Given the description of an element on the screen output the (x, y) to click on. 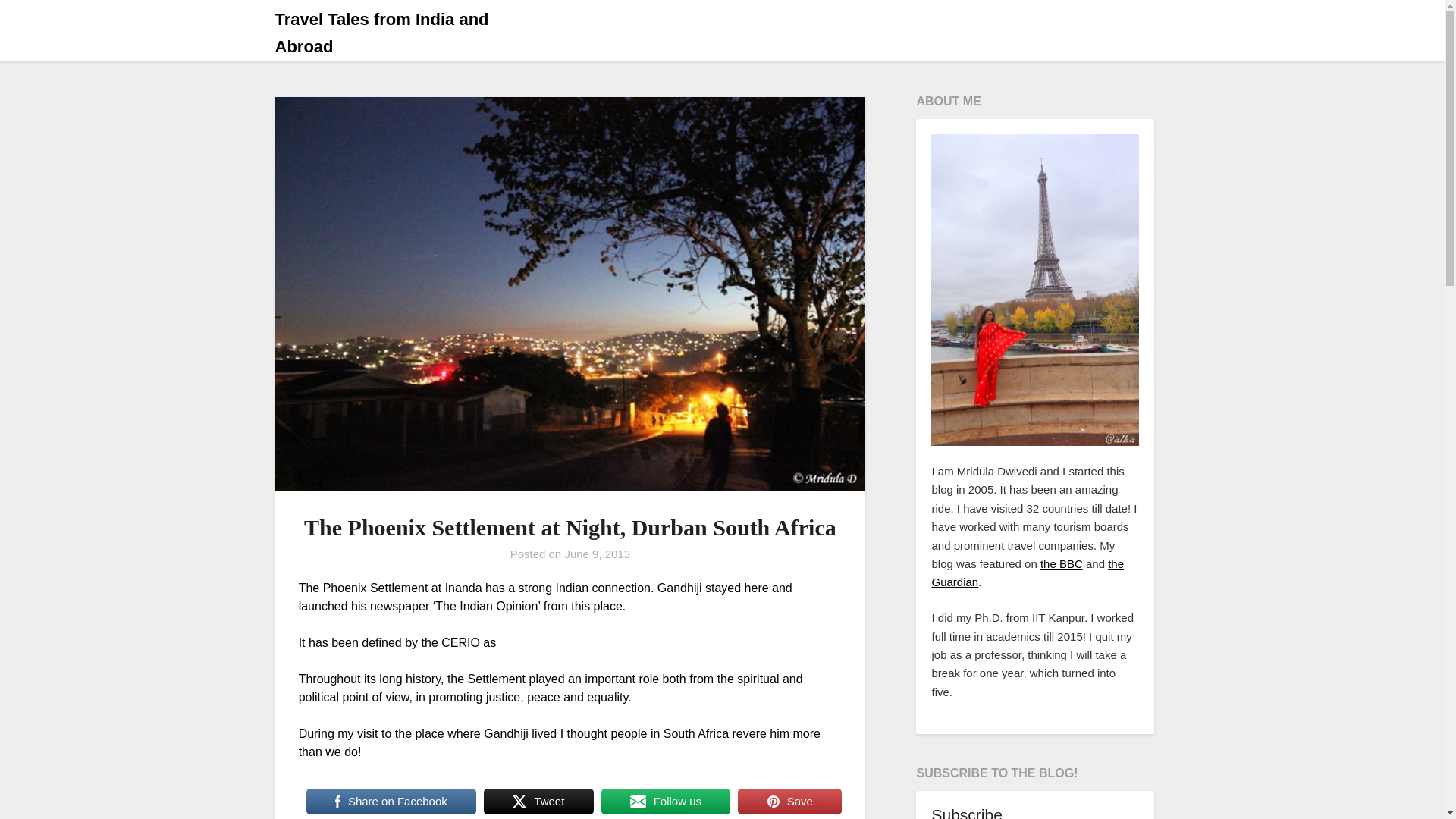
Tweet (538, 801)
the Guardian (1027, 572)
June 9, 2013 (597, 553)
Follow us (665, 801)
Share on Facebook (390, 801)
Save (789, 801)
the BBC (1062, 563)
Travel Tales from India and Abroad (409, 32)
